Given the description of an element on the screen output the (x, y) to click on. 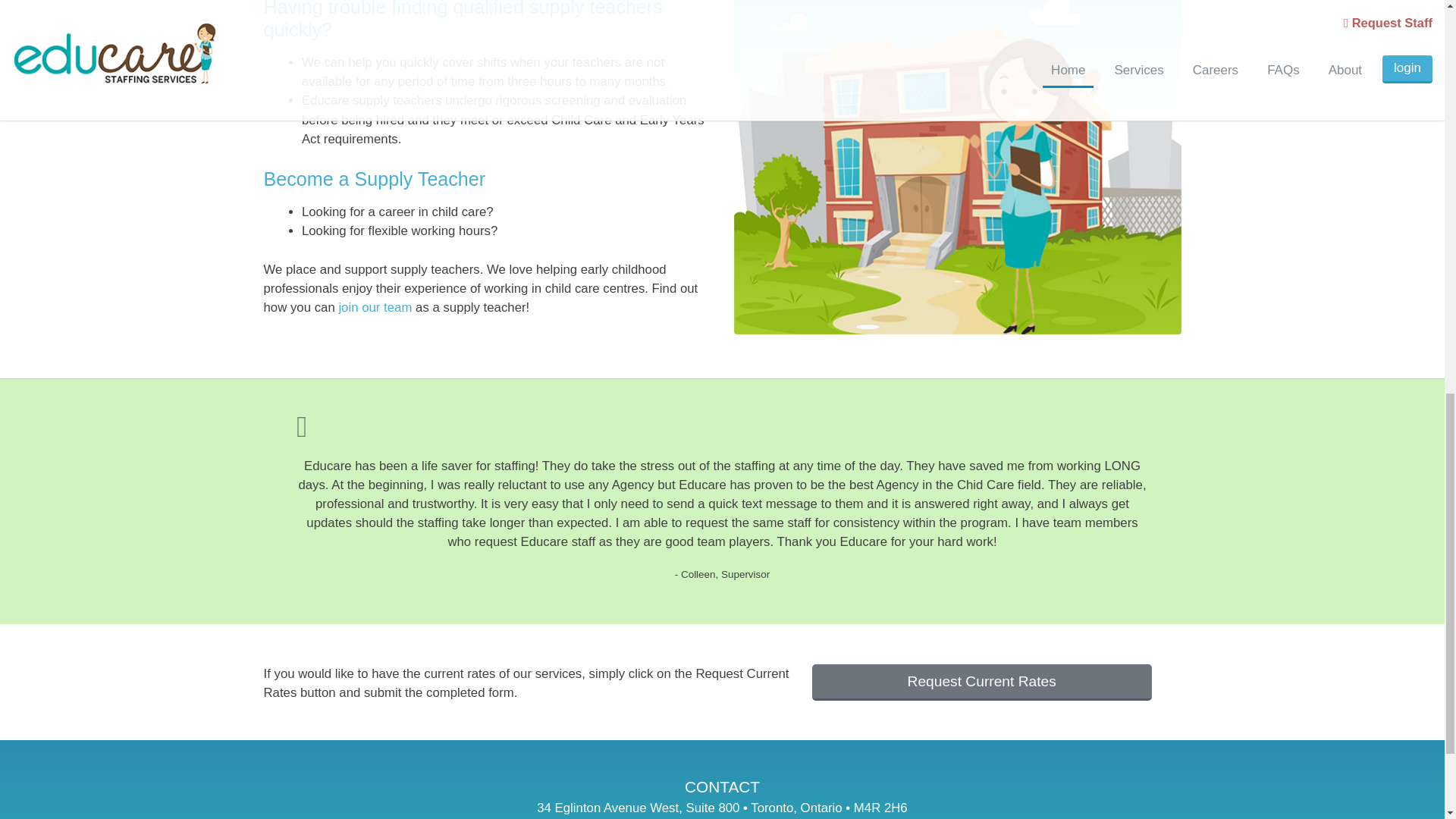
Become a Supply Teacher (487, 178)
Having trouble finding qualified supply teachers quickly? (487, 20)
join our team (374, 307)
Request Current Rates (981, 682)
